Given the description of an element on the screen output the (x, y) to click on. 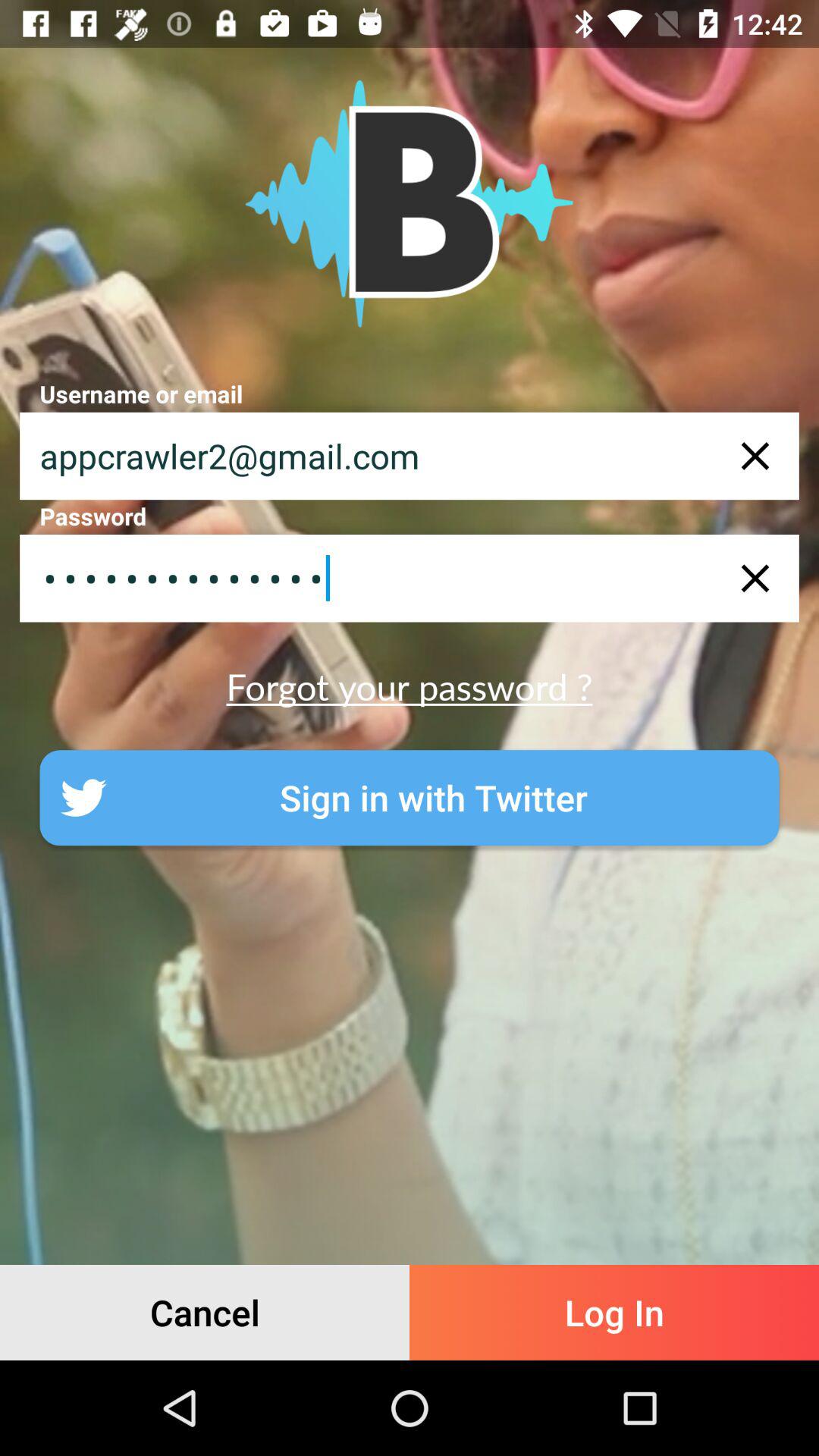
press cancel icon (204, 1312)
